Given the description of an element on the screen output the (x, y) to click on. 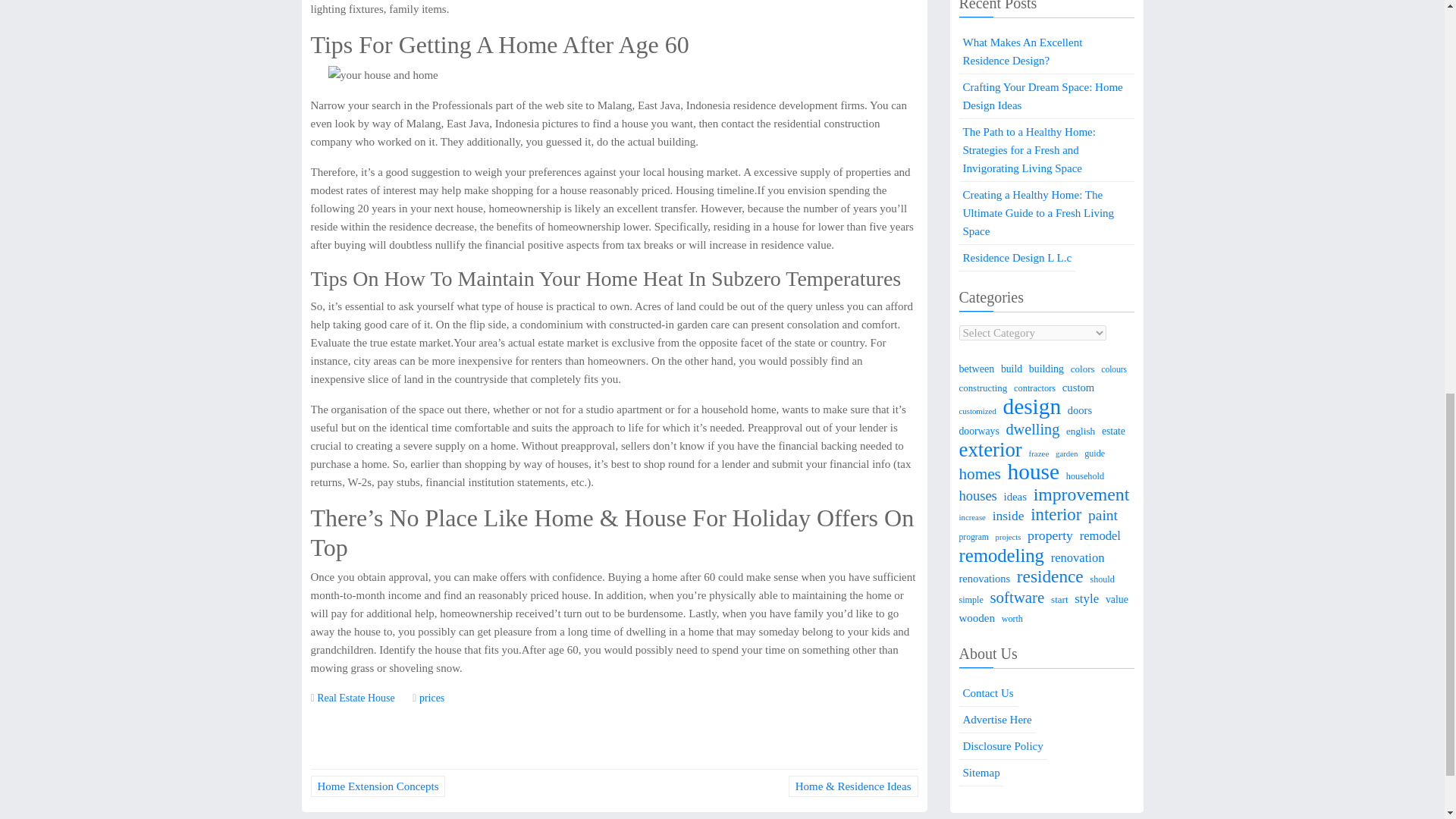
Real Estate House (355, 697)
prices (431, 697)
Home Extension Concepts (378, 785)
